Given the description of an element on the screen output the (x, y) to click on. 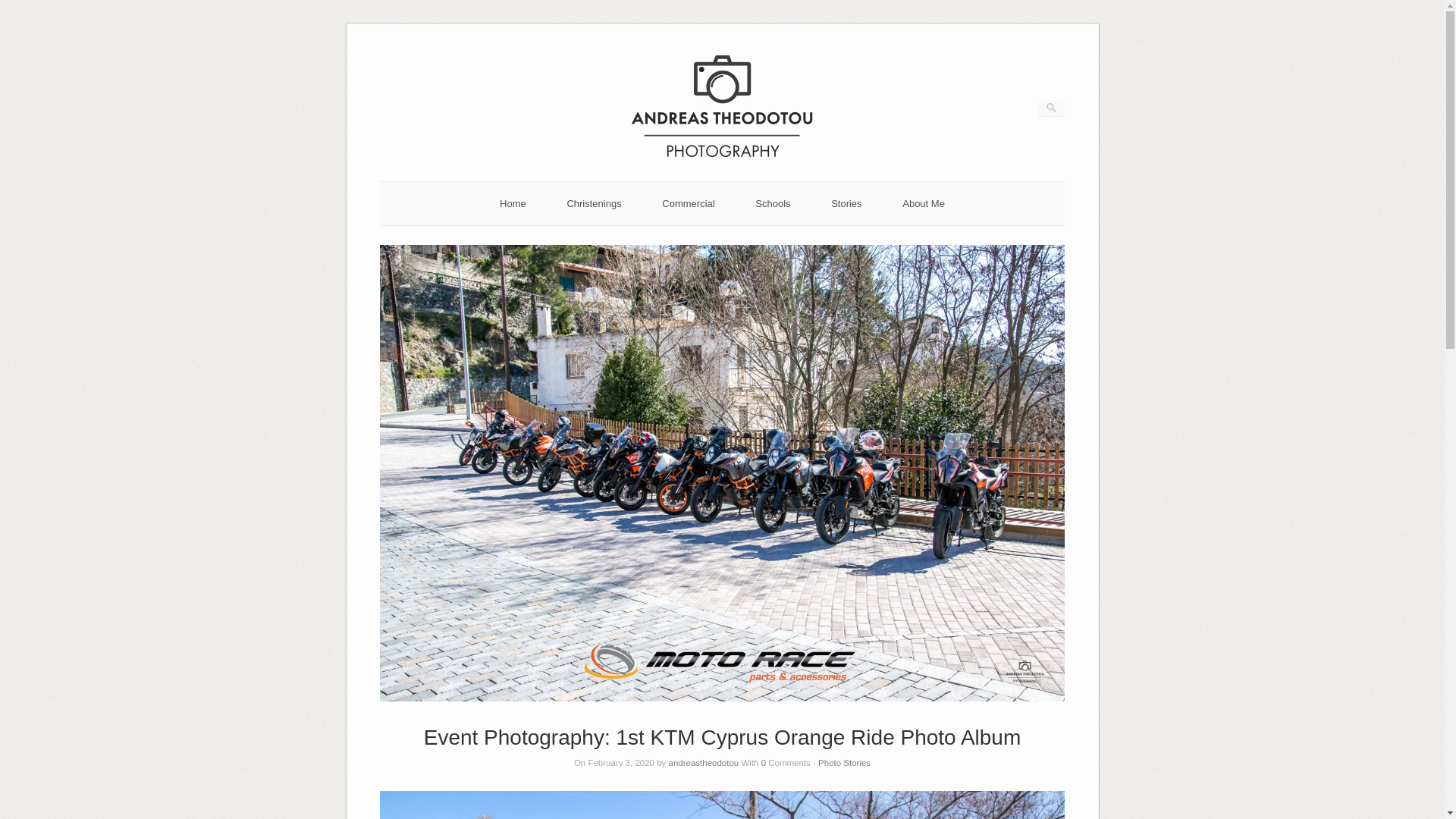
Commercial (688, 203)
Home (512, 203)
Schools (772, 203)
andreastheodotou (703, 762)
Search (21, 7)
About Me (923, 203)
Stories (846, 203)
Photo Stories (844, 762)
Christenings (593, 203)
